Given the description of an element on the screen output the (x, y) to click on. 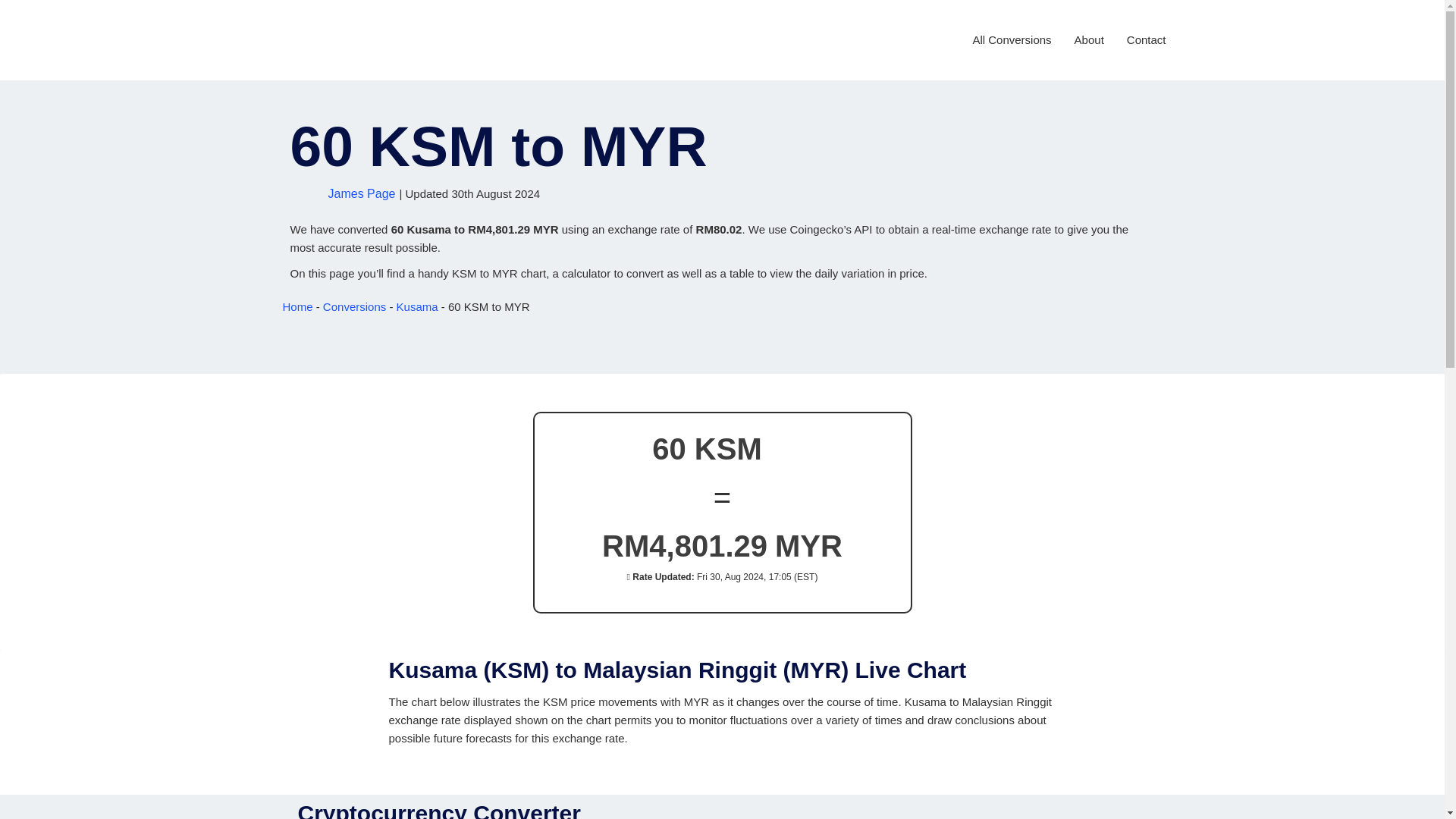
James Page (360, 193)
Home (297, 307)
All Conversions (1011, 39)
Contact (1146, 39)
Kusama (417, 307)
About (1088, 39)
Conversions (354, 307)
